Given the description of an element on the screen output the (x, y) to click on. 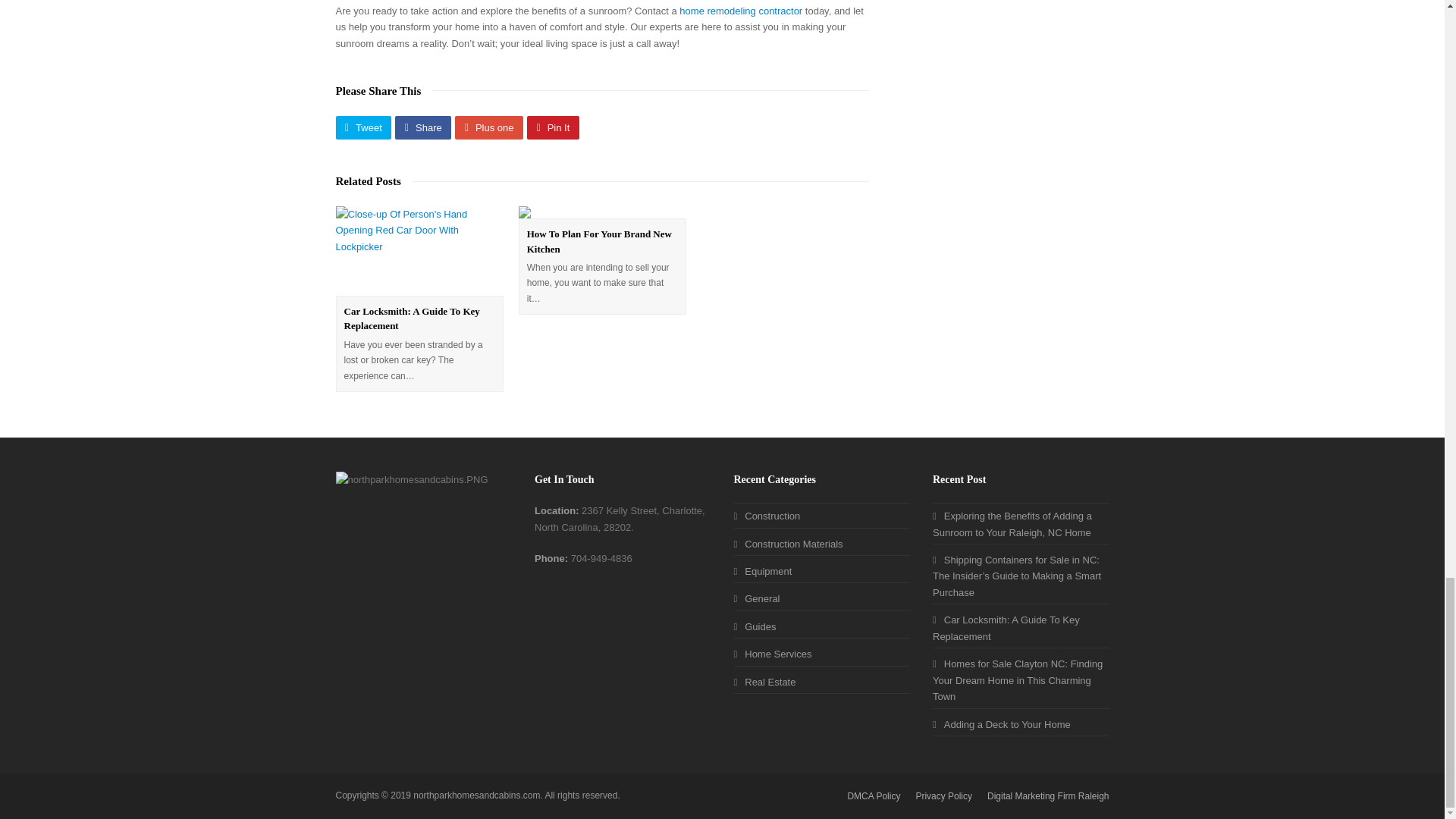
Home Services (772, 654)
Share on Facebook (422, 127)
How To Plan For Your Brand New Kitchen (599, 241)
General (756, 598)
Car Locksmith: A Guide To Key Replacement (411, 318)
Car Locksmith: A Guide To Key Replacement (418, 250)
home remodeling contractor (740, 10)
Tweet (362, 127)
Pin It (553, 127)
Car Locksmith: A Guide To Key Replacement (1006, 627)
How To Plan For Your Brand New Kitchen (599, 241)
Privacy Policy (943, 796)
DMCA Policy (873, 796)
Share (422, 127)
